Given the description of an element on the screen output the (x, y) to click on. 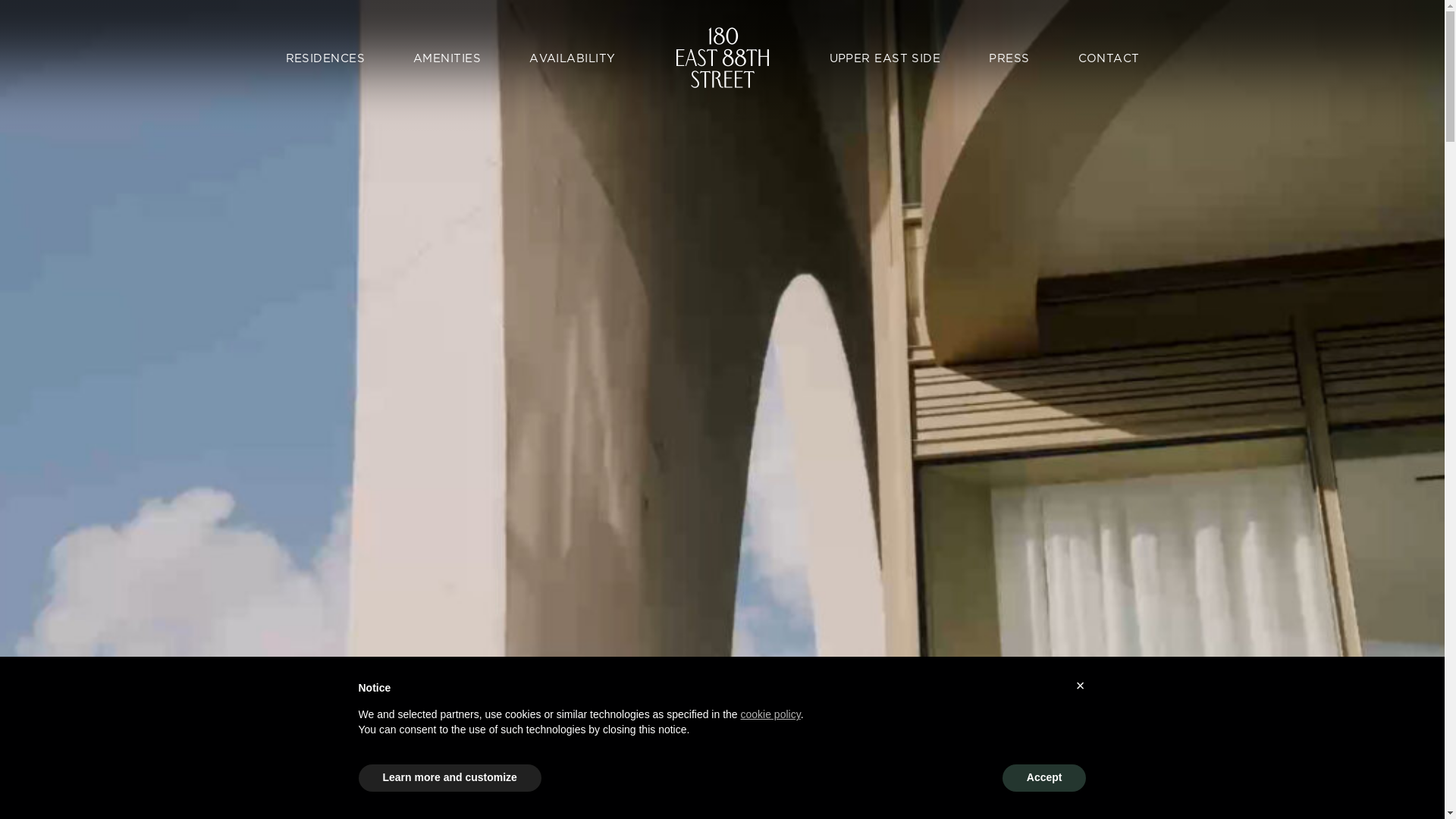
AVAILABILITY Element type: text (572, 57)
cookie policy Element type: text (770, 714)
Accept Element type: text (1044, 777)
Learn more and customize Element type: text (448, 777)
PRESS Element type: text (1008, 57)
CONTACT Element type: text (1109, 57)
AMENITIES Element type: text (447, 57)
RESIDENCES Element type: text (325, 57)
UPPER EAST SIDE Element type: text (885, 57)
